Given the description of an element on the screen output the (x, y) to click on. 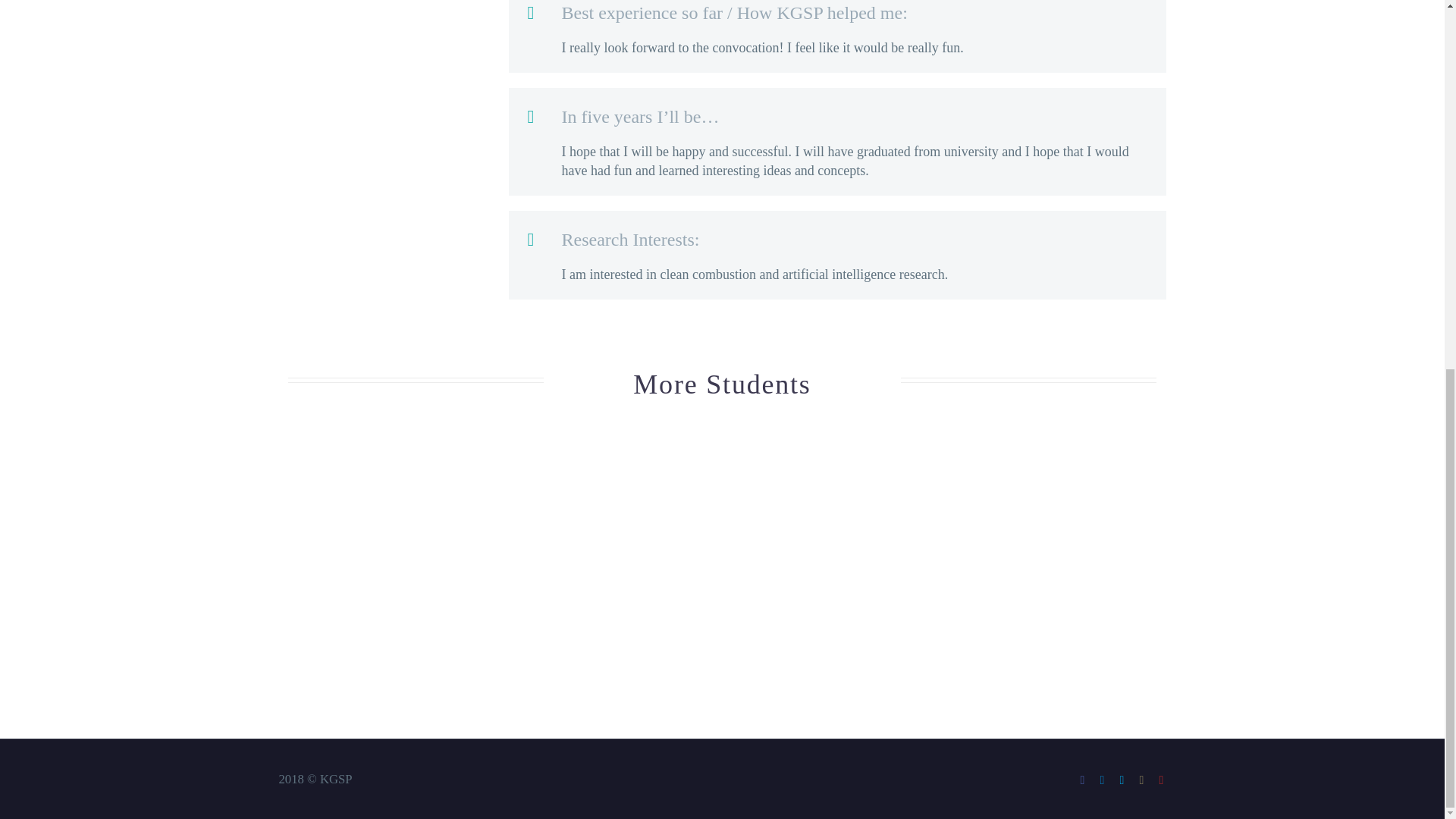
instagram (1141, 779)
linkedin (1102, 779)
twitter (1122, 779)
facebook (1083, 779)
youtube (1161, 779)
